Given the description of an element on the screen output the (x, y) to click on. 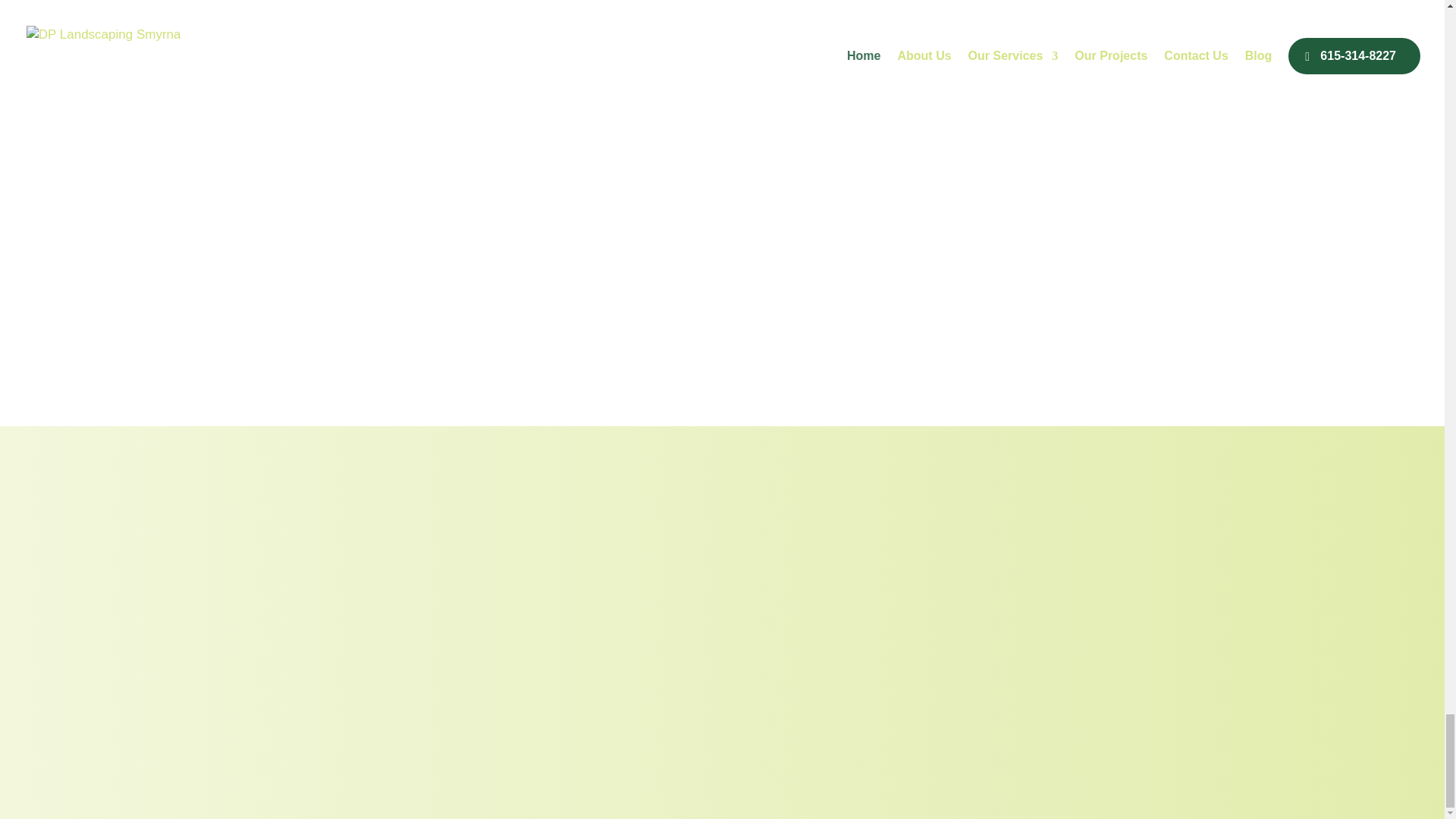
Submit (795, 327)
